Given the description of an element on the screen output the (x, y) to click on. 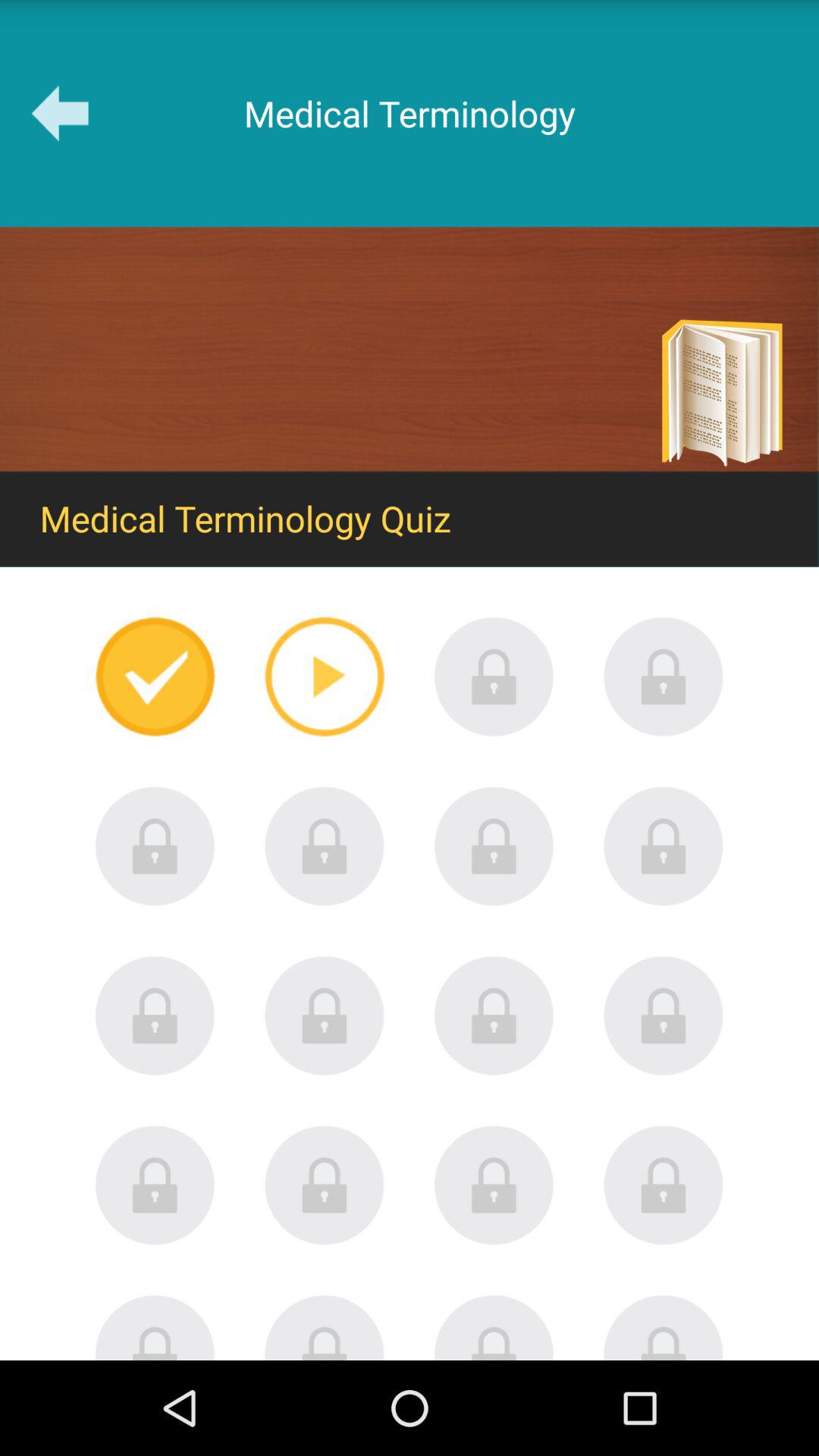
it is locked (154, 1184)
